Given the description of an element on the screen output the (x, y) to click on. 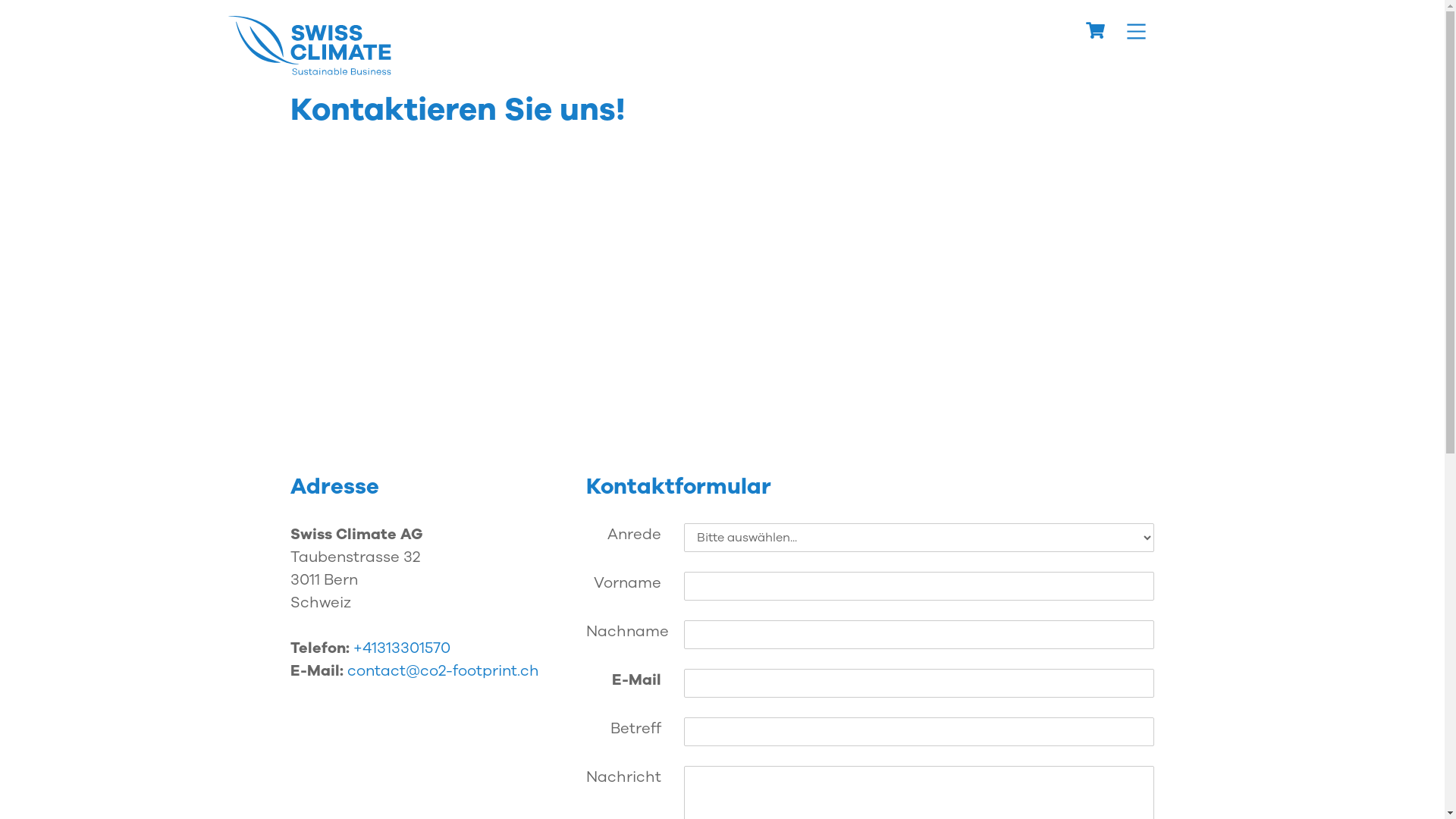
contact@co2-footprint.ch Element type: text (443, 670)
+41313301570 Element type: text (401, 647)
